Given the description of an element on the screen output the (x, y) to click on. 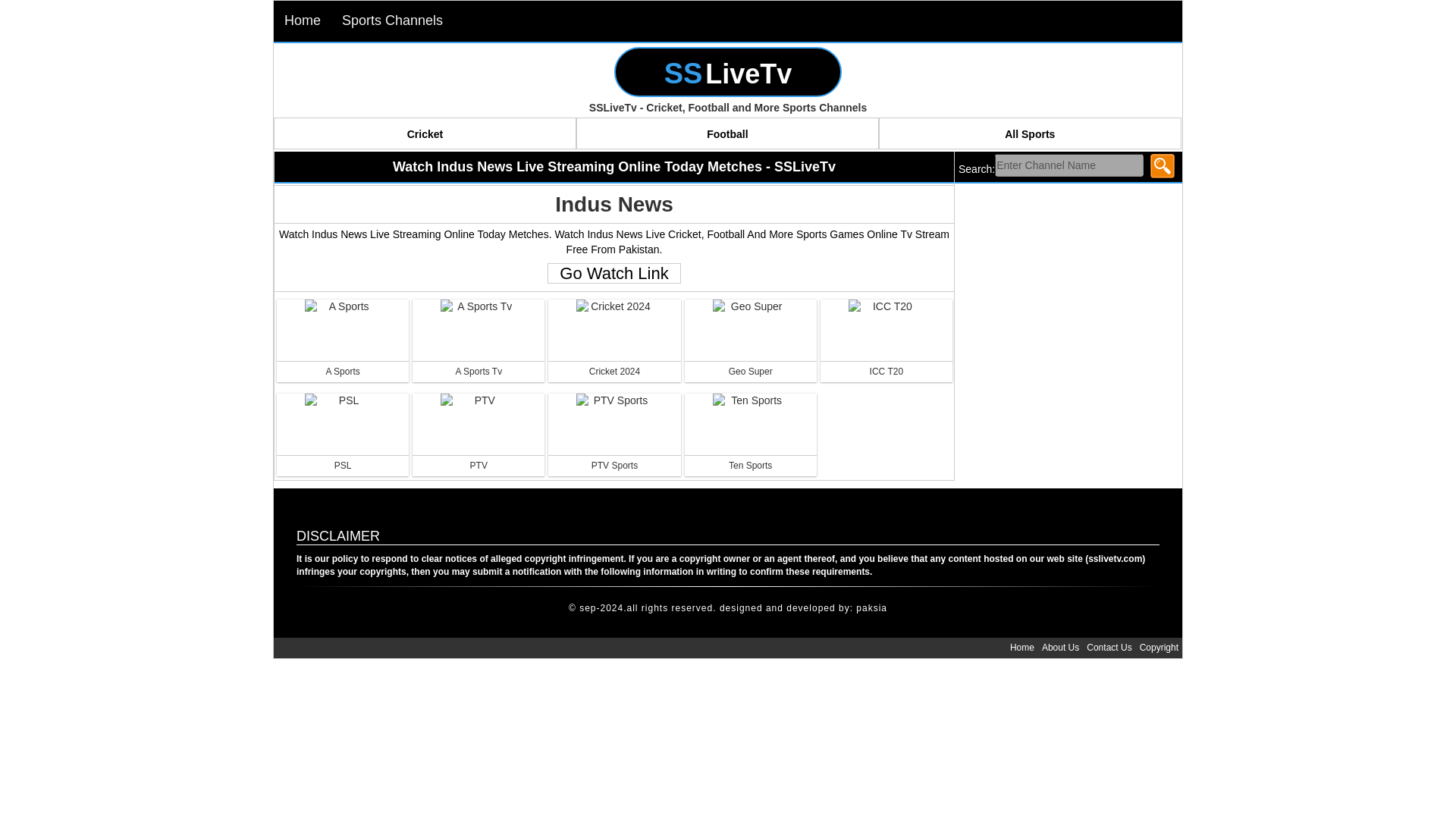
Cricket 2024 (613, 364)
Contact Us (1109, 648)
Copyright (1158, 648)
Football (727, 133)
Geo Super (750, 364)
A Sports (342, 364)
Home (1022, 648)
PTV (478, 457)
Home (302, 20)
PSL (342, 457)
